Given the description of an element on the screen output the (x, y) to click on. 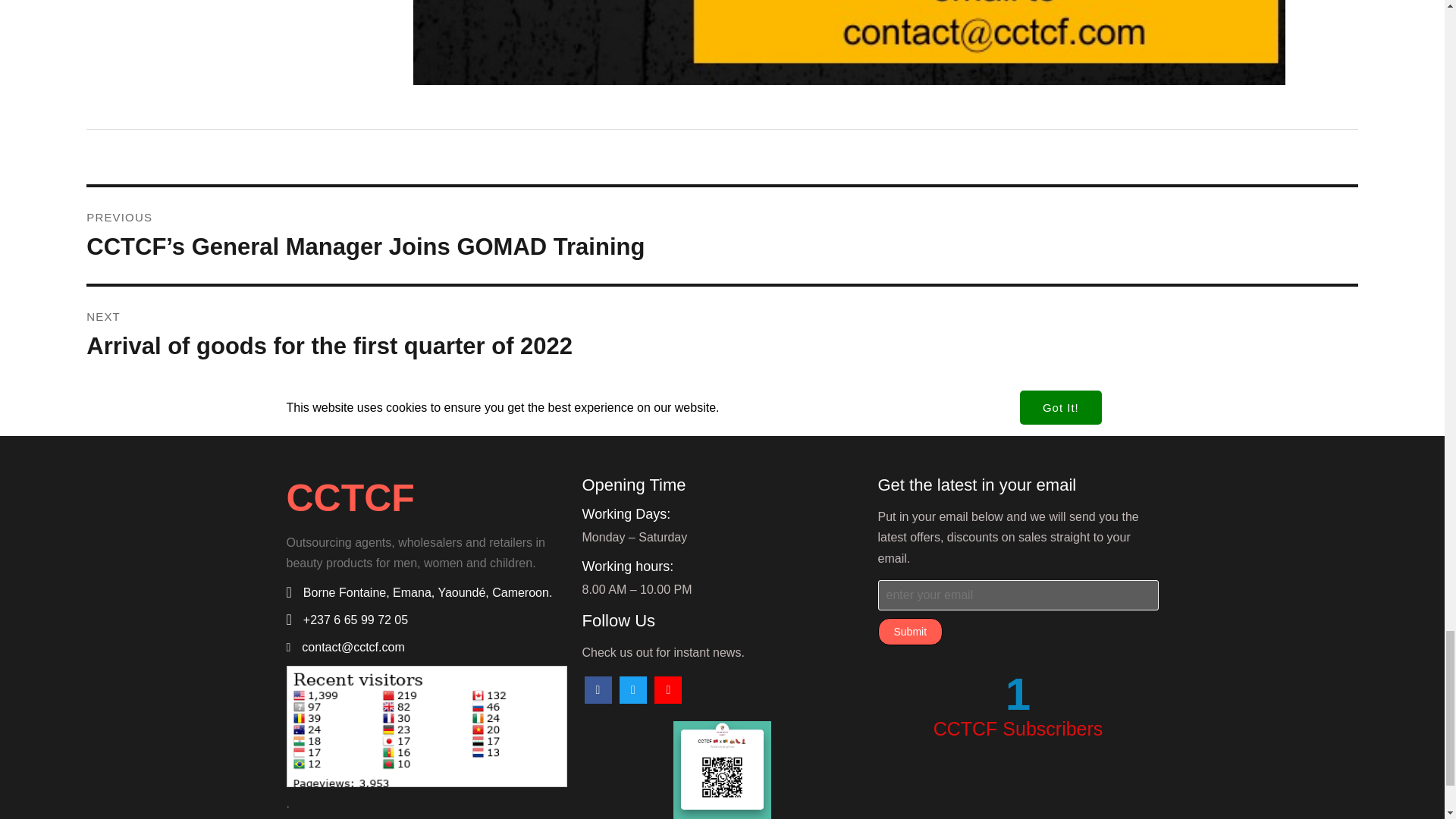
Submit (720, 334)
CCTCF Whatsapp group (910, 631)
Salesboyswanted (721, 770)
